Given the description of an element on the screen output the (x, y) to click on. 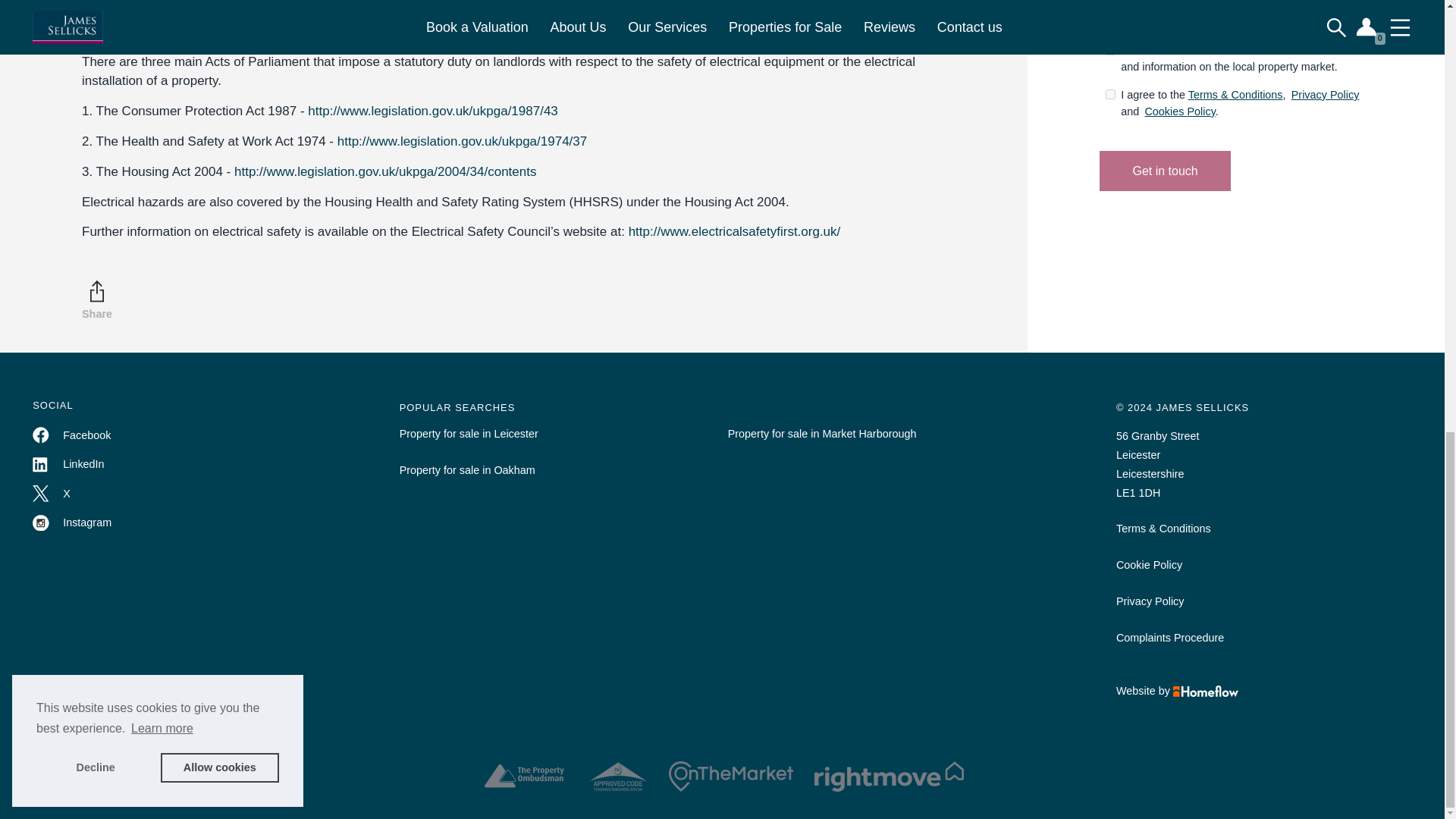
Get in touch (1164, 170)
Privacy Policy (1325, 94)
X icon (40, 493)
on (1110, 94)
Cookies Policy (1179, 111)
on (1110, 50)
